Given the description of an element on the screen output the (x, y) to click on. 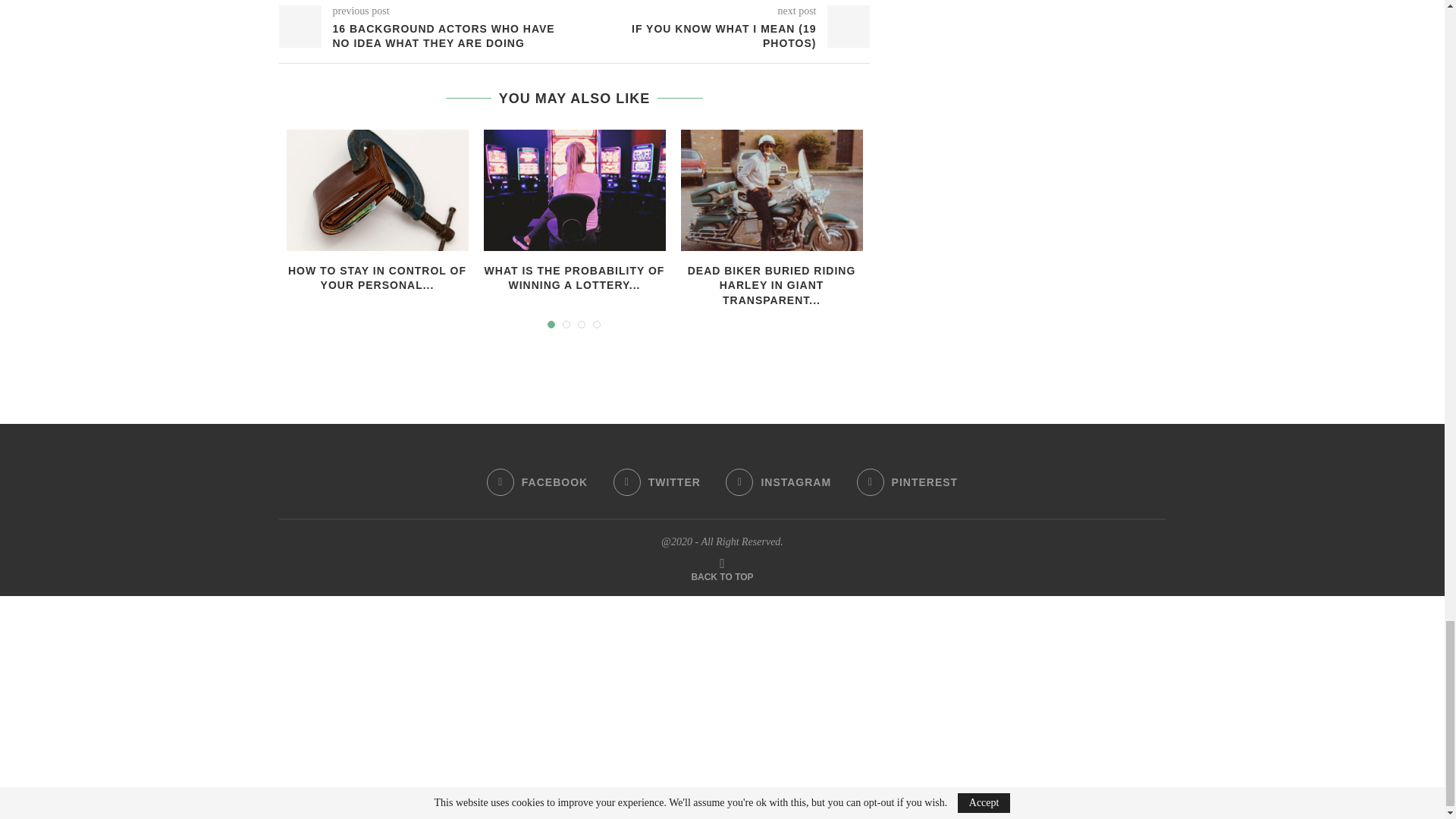
What is the probability of winning a lottery jackpot? (574, 189)
How to Stay in Control Of Your Personal Spending (377, 189)
